Given the description of an element on the screen output the (x, y) to click on. 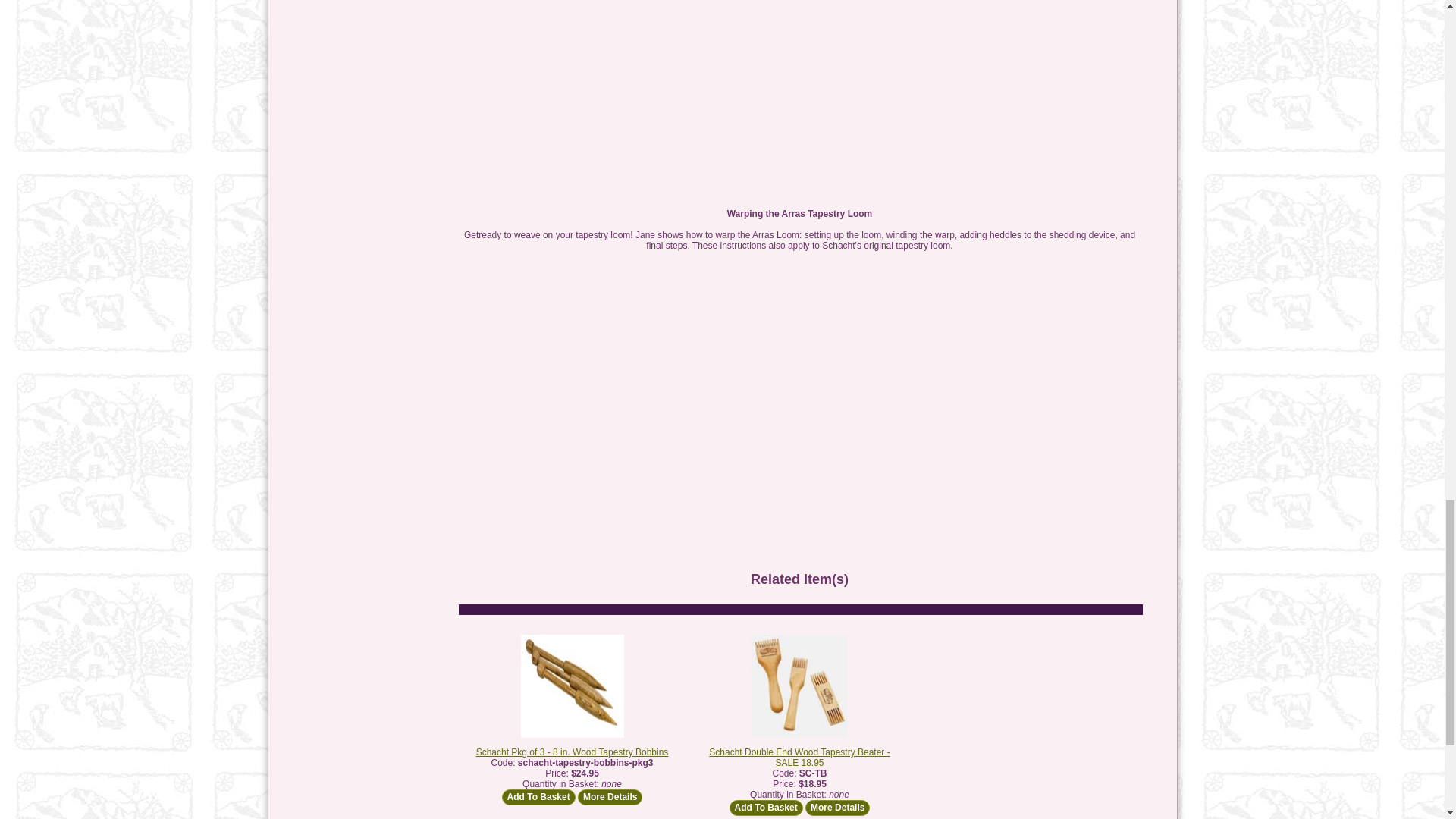
More Details (837, 807)
Add To Basket (766, 807)
Schacht Pkg of 3 - 8 in. Wood Tapestry Bobbins (572, 751)
Add To Basket (538, 797)
Add To Basket (538, 797)
More Details (610, 797)
